Given the description of an element on the screen output the (x, y) to click on. 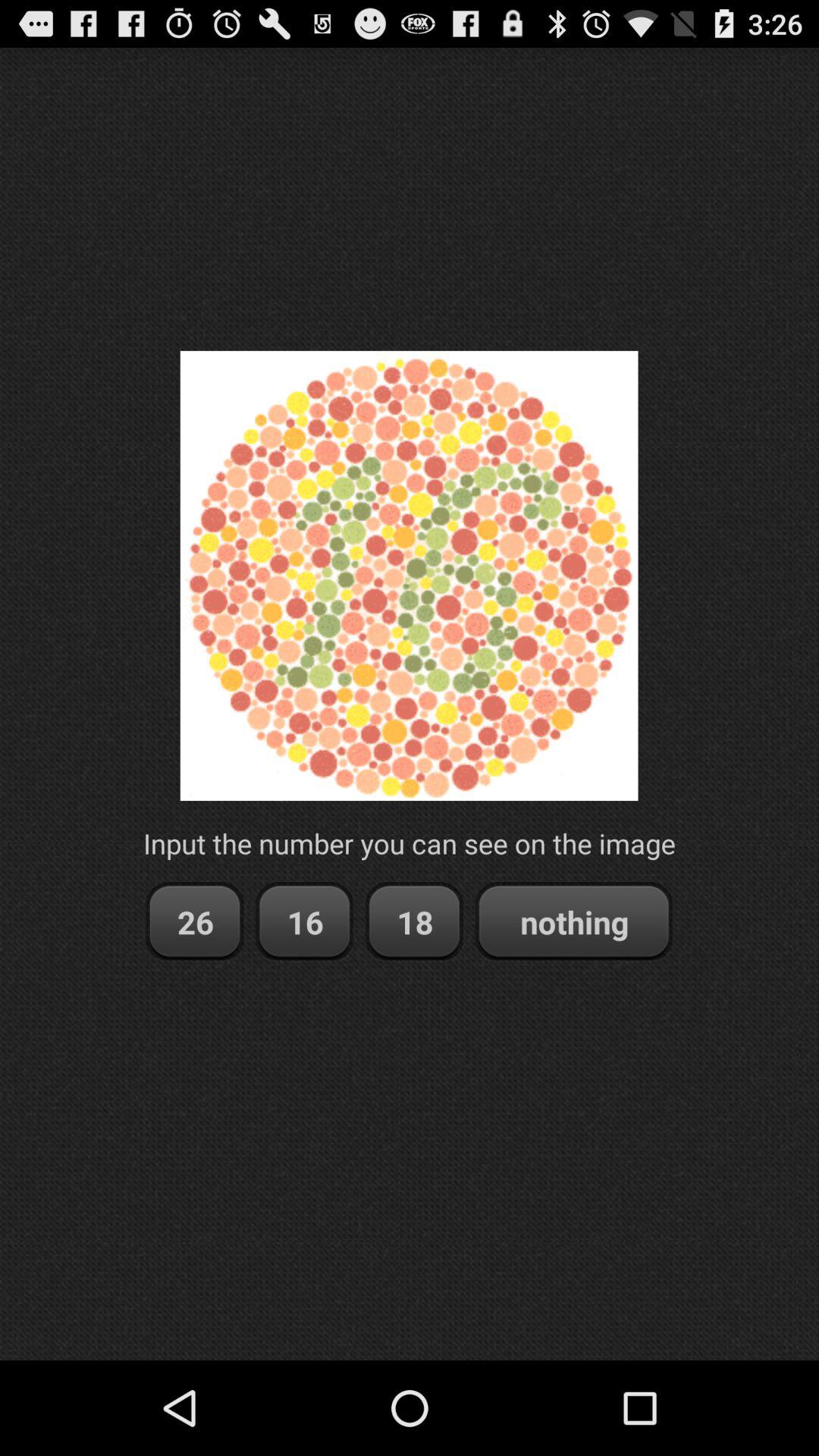
launch the icon to the left of the 18 item (304, 921)
